Given the description of an element on the screen output the (x, y) to click on. 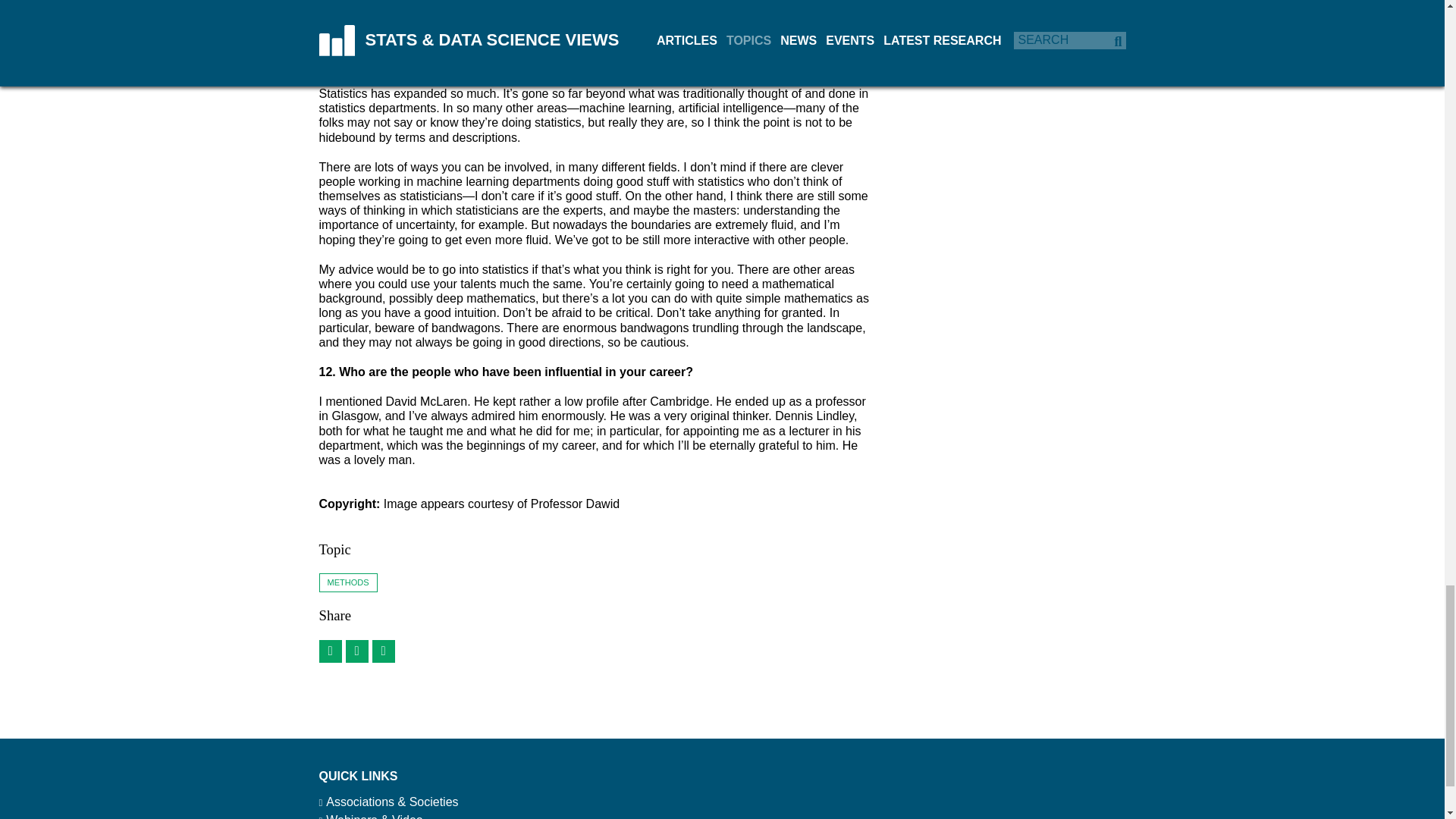
Share on Facebook (357, 650)
Share on Email (329, 650)
Share on Twitter (382, 650)
METHODS (347, 582)
